Given the description of an element on the screen output the (x, y) to click on. 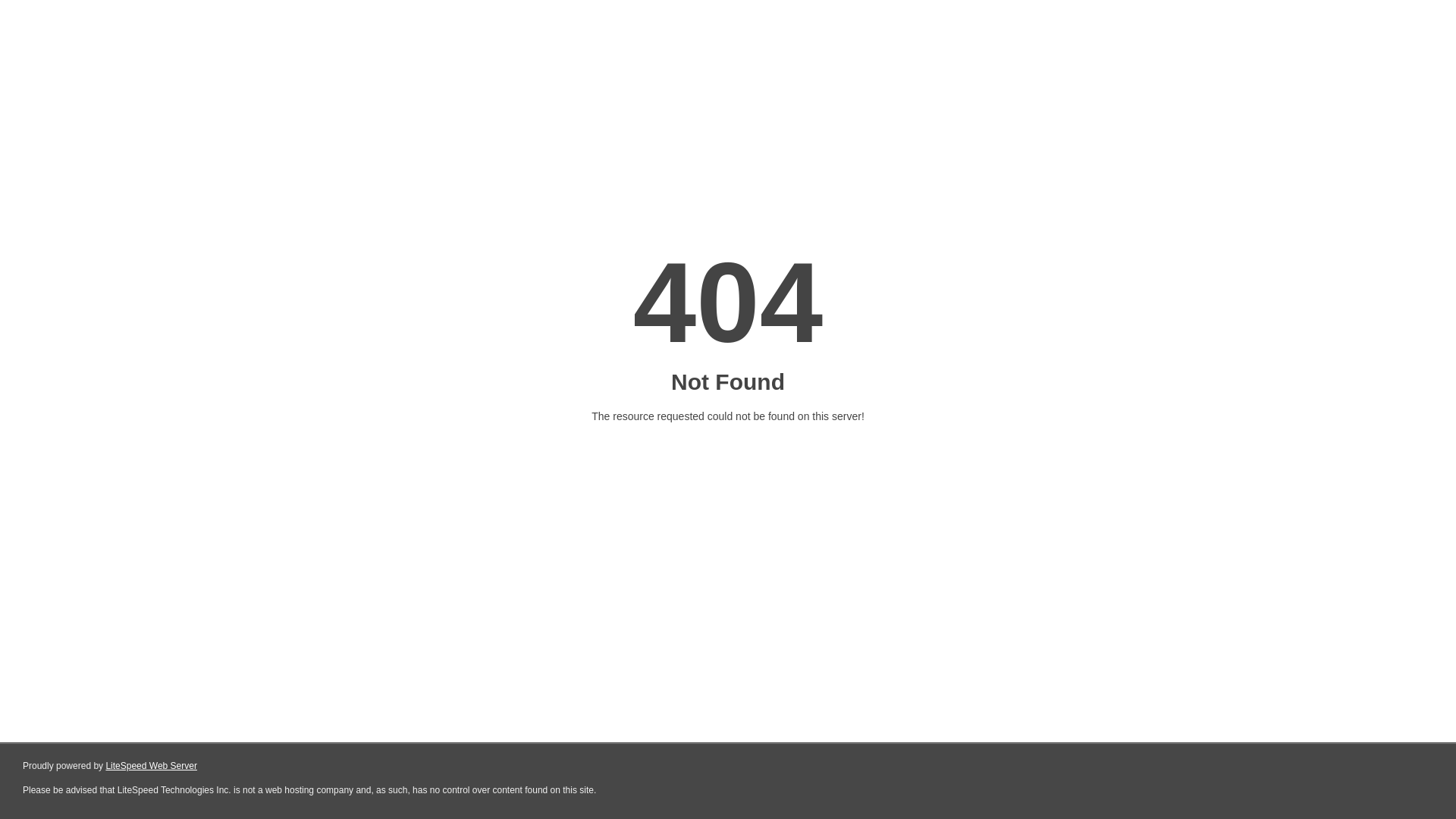
LiteSpeed Web Server Element type: text (151, 765)
